Given the description of an element on the screen output the (x, y) to click on. 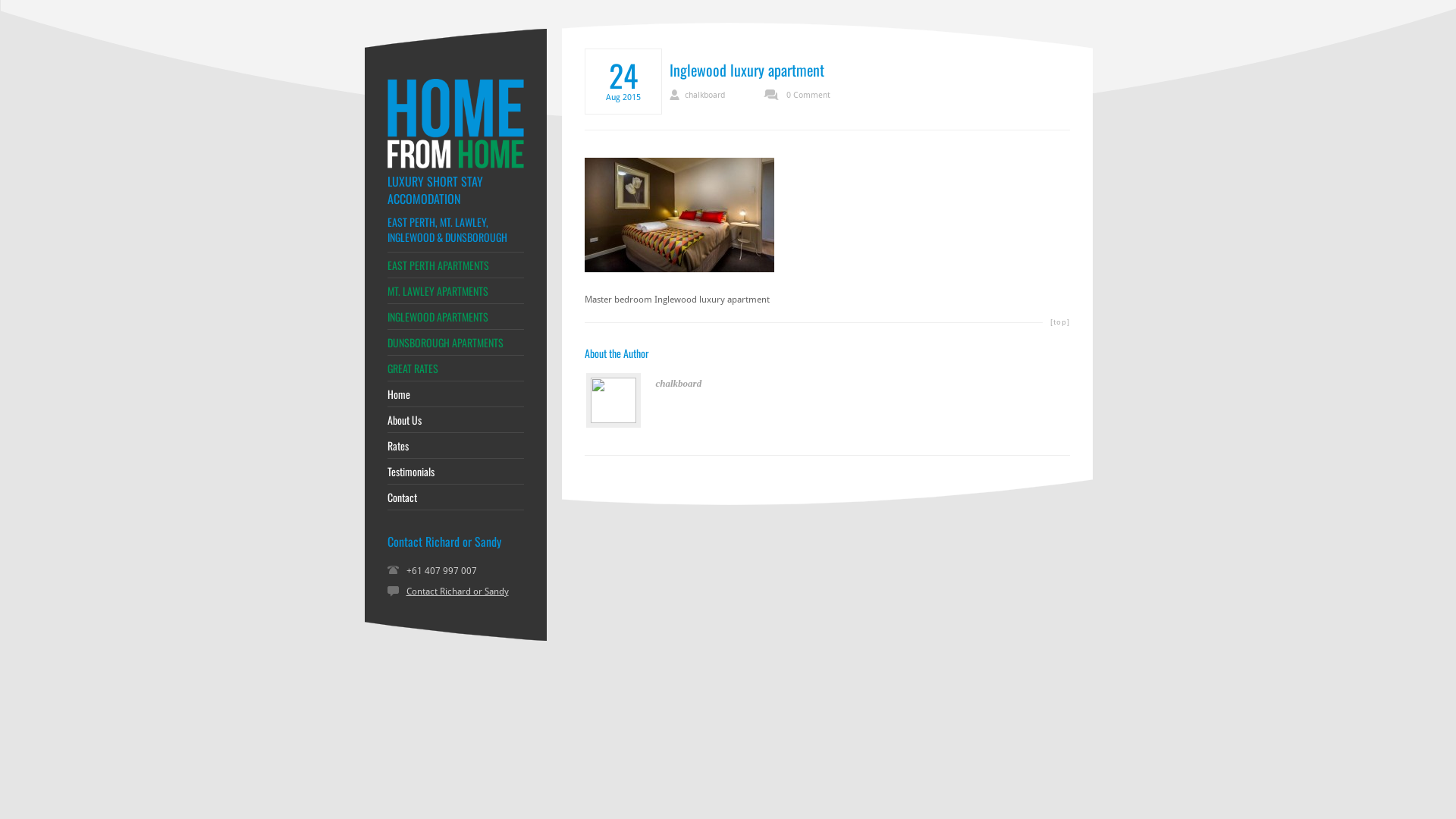
Rates Element type: text (454, 445)
INGLEWOOD APARTMENTS Element type: text (454, 316)
Testimonials Element type: text (454, 471)
About Us Element type: text (454, 419)
Home From Home Element type: hover (454, 165)
DUNSBOROUGH APARTMENTS Element type: text (454, 342)
MT. LAWLEY APARTMENTS Element type: text (454, 290)
Contact Richard or Sandy Element type: text (457, 591)
Home Element type: text (454, 394)
0 Comment Element type: text (795, 95)
chalkboard Element type: text (696, 95)
Contact Element type: text (454, 497)
EAST PERTH APARTMENTS Element type: text (454, 265)
chalkboard Element type: text (678, 383)
GREAT RATES Element type: text (454, 368)
